Given the description of an element on the screen output the (x, y) to click on. 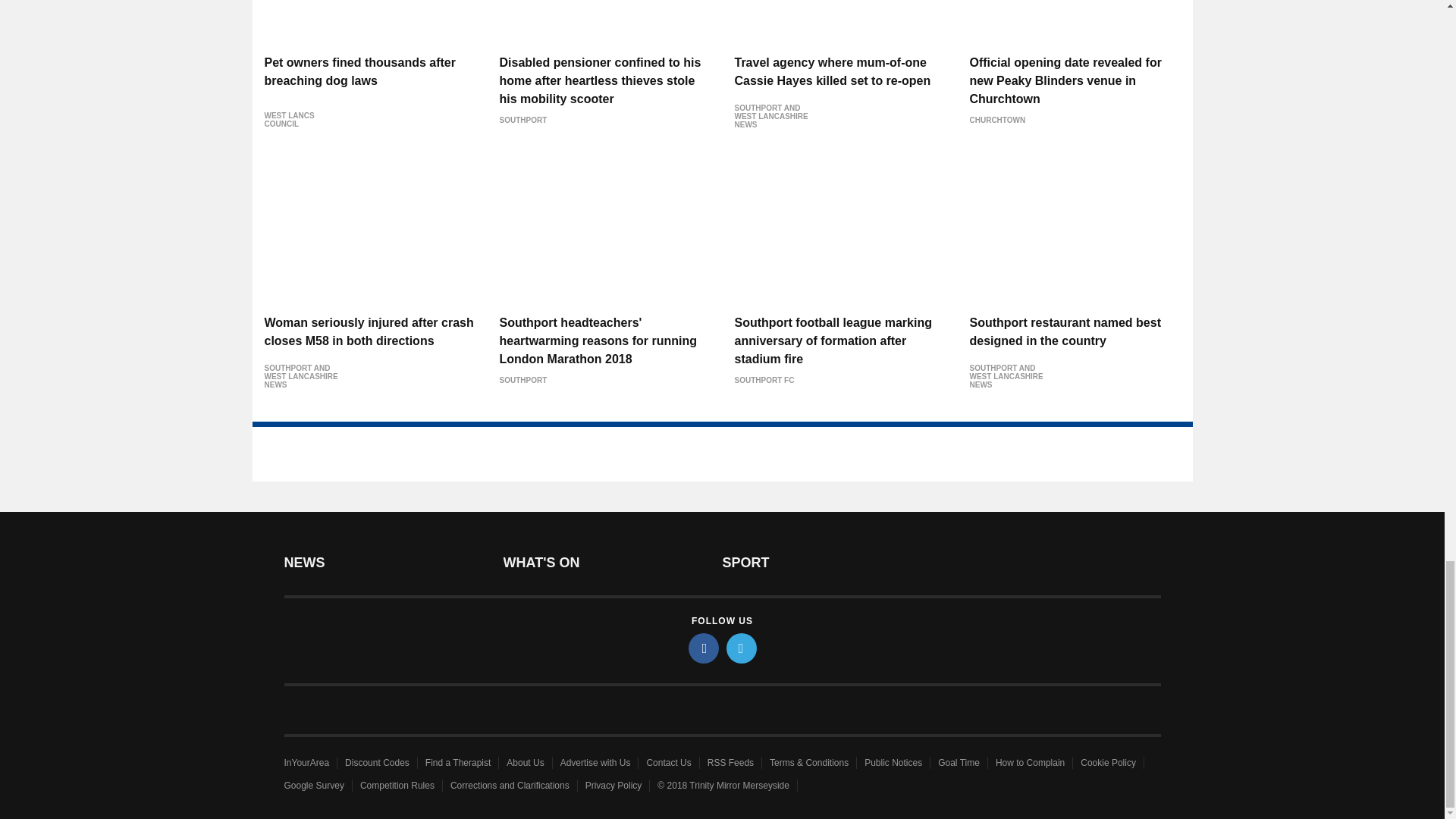
twitter (741, 648)
facebook (703, 648)
